Given the description of an element on the screen output the (x, y) to click on. 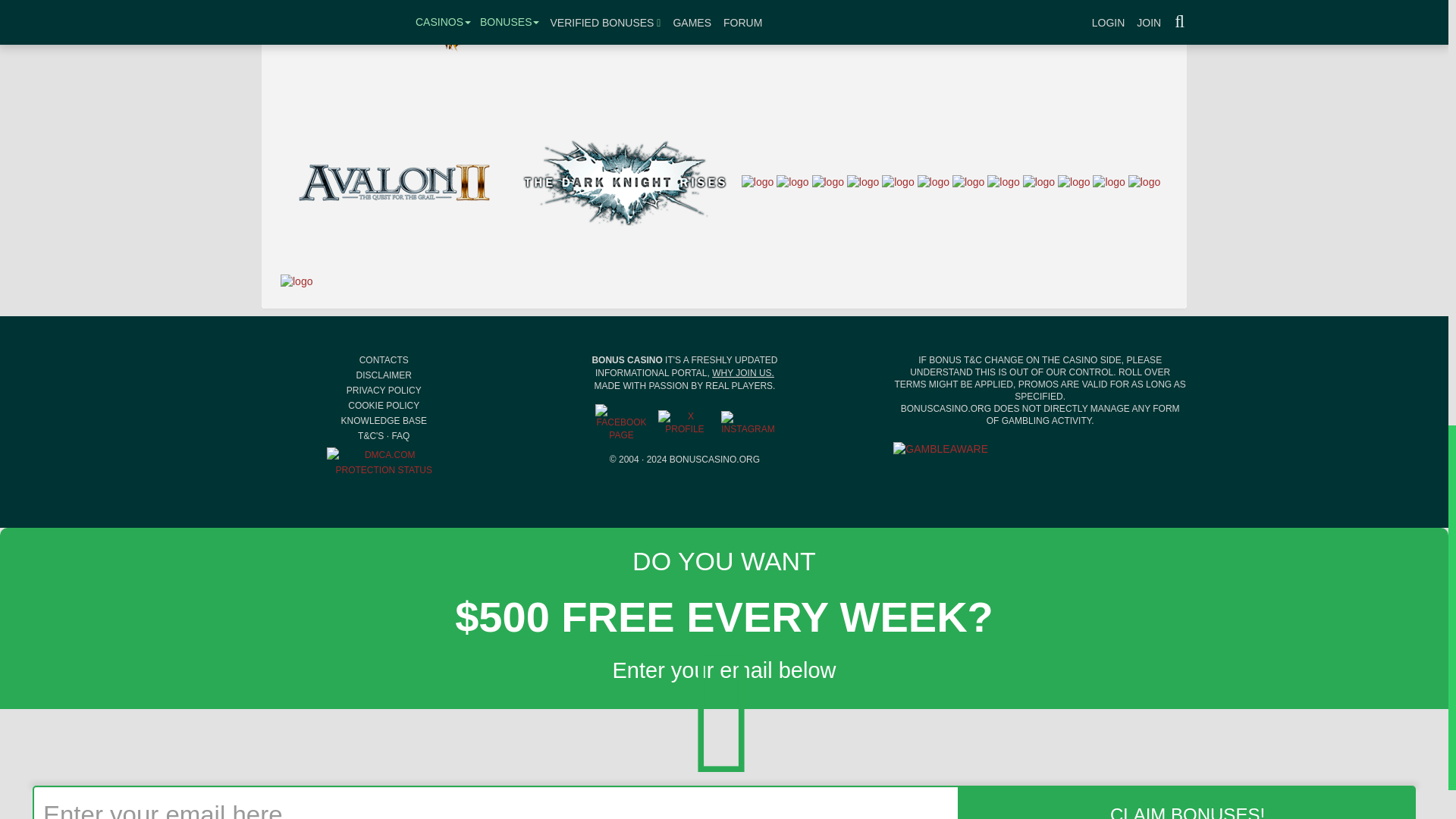
Disclaimer (384, 375)
DMCA.com Protection Status (383, 461)
Join Bonus Casino, enjoy the benefits. (742, 372)
Privacy Policy (384, 389)
Contact us (384, 359)
FAQs (400, 435)
Cookie Policy (383, 405)
Knowledge Base (383, 420)
